Given the description of an element on the screen output the (x, y) to click on. 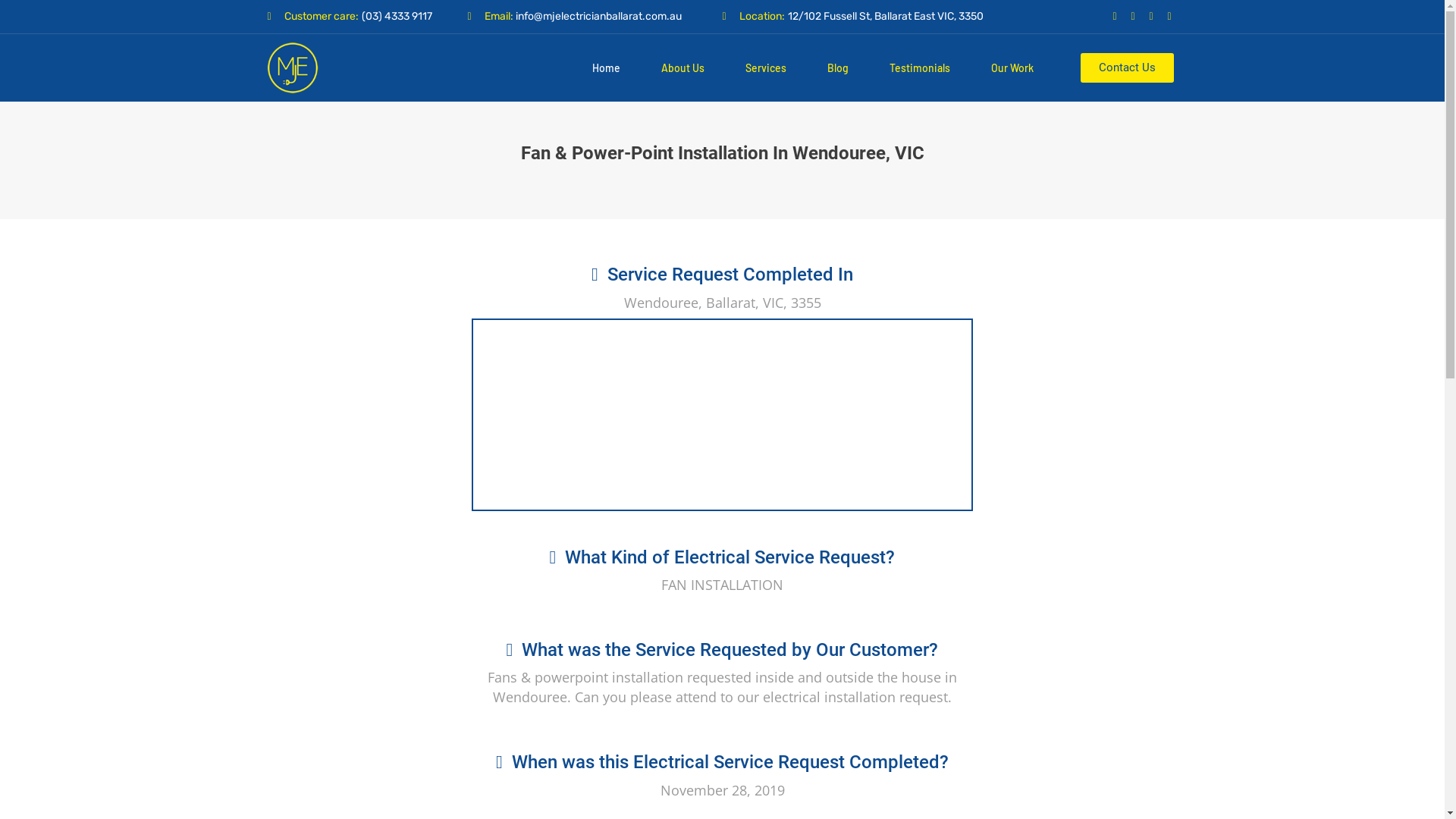
Our Work Element type: text (1011, 67)
Blog Element type: text (837, 67)
Email: info@mjelectricianballarat.com.au Element type: text (594, 16)
Home Element type: text (606, 67)
Contact Us Element type: text (1126, 67)
Services Element type: text (765, 67)
(03) 4333 9117 Element type: text (395, 16)
12/102 Fussell St, Ballarat East VIC, 3350 Element type: text (883, 16)
Testimonials Element type: text (919, 67)
About Us Element type: text (682, 67)
